Given the description of an element on the screen output the (x, y) to click on. 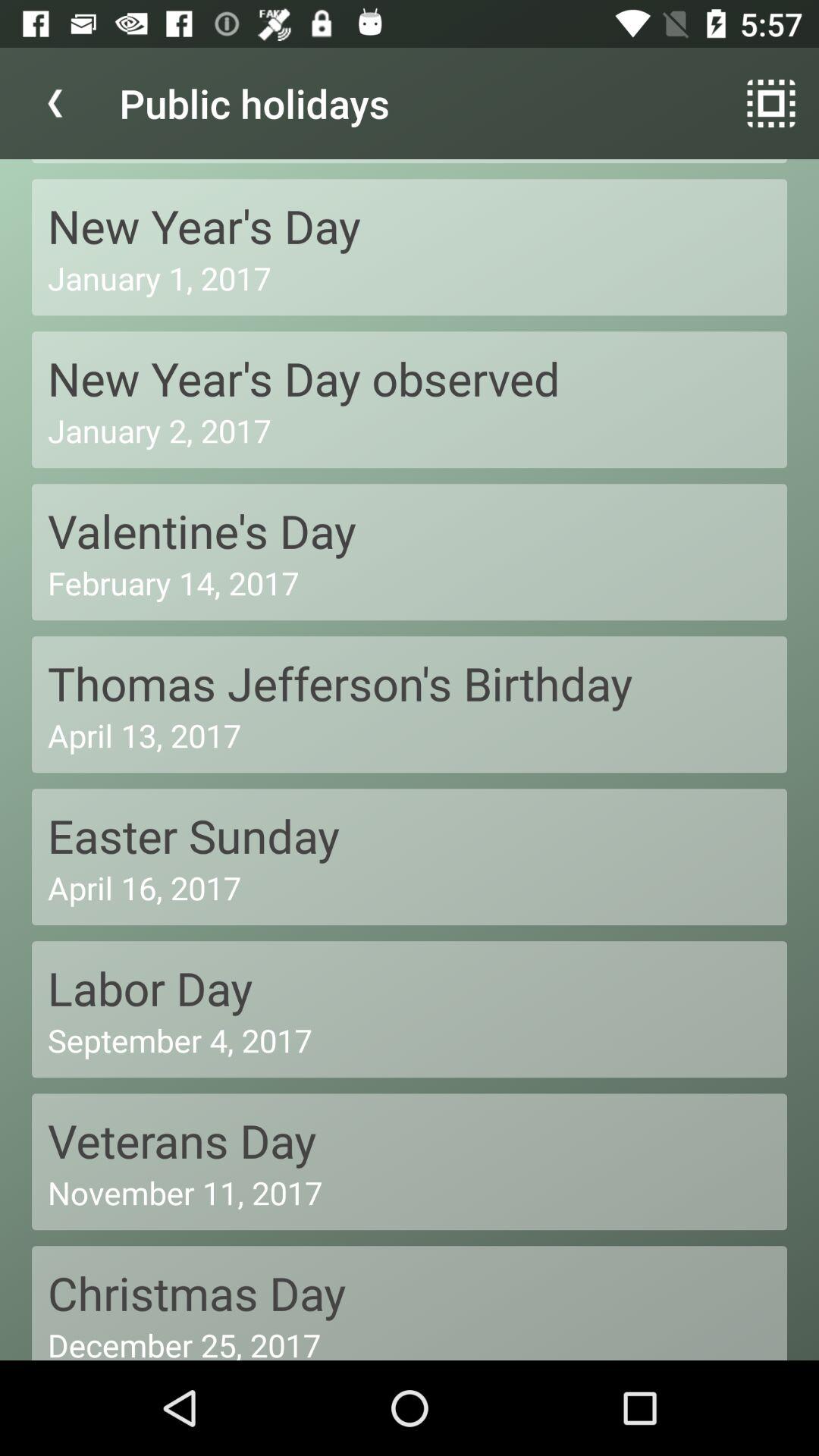
tap the icon below the september 4, 2017 item (409, 1140)
